Given the description of an element on the screen output the (x, y) to click on. 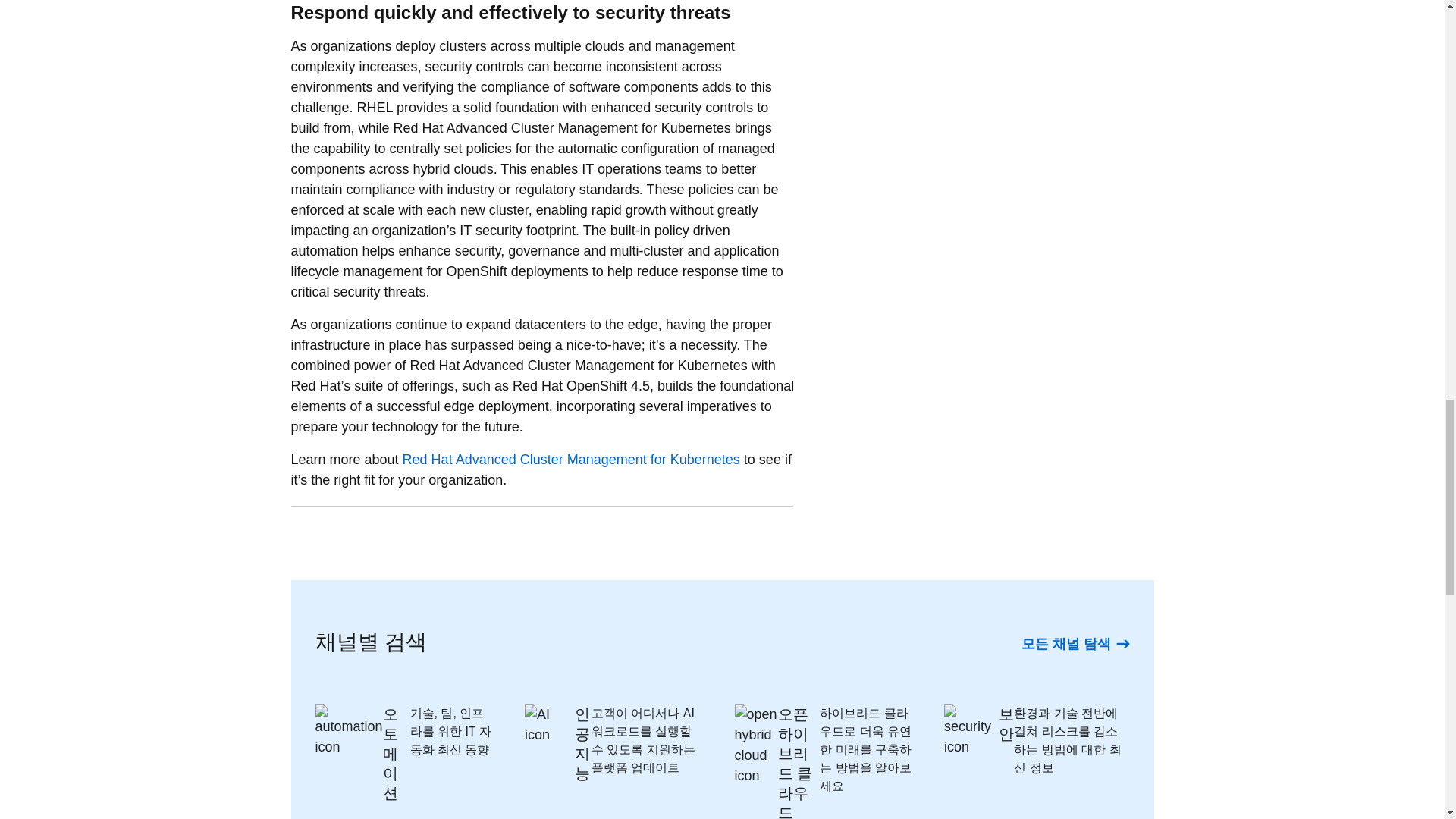
Explore all channels (1075, 643)
